Given the description of an element on the screen output the (x, y) to click on. 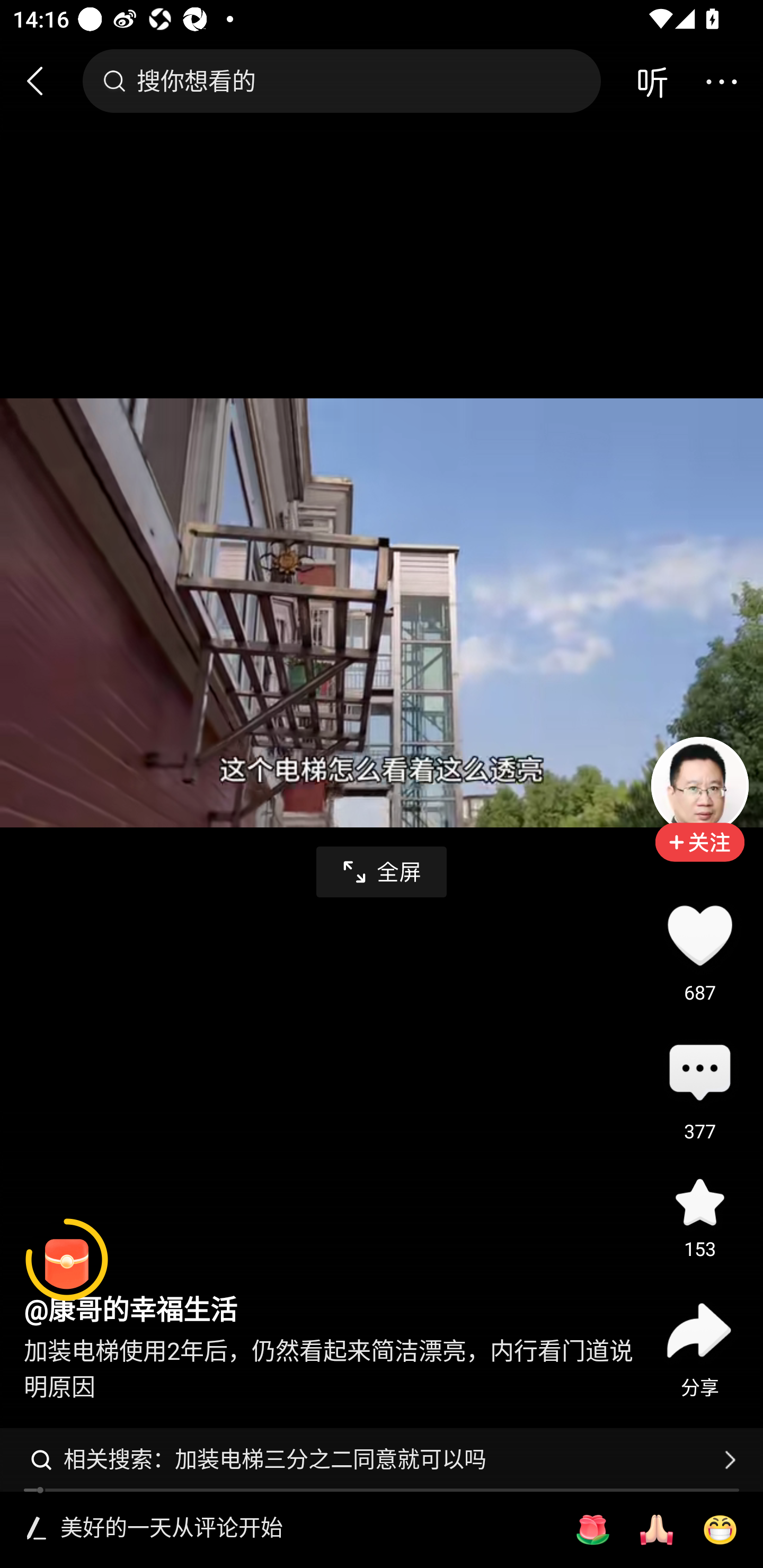
搜你想看的 搜索框，搜你想看的 (341, 80)
返回 (43, 80)
音频 (651, 80)
更多操作 (720, 80)
头像 (699, 785)
全屏播放 (381, 871)
点赞687 687 (699, 935)
评论377 评论 377 (699, 1074)
收藏 153 (699, 1201)
阅读赚金币 (66, 1259)
分享 (699, 1330)
@康哥的幸福生活 (130, 1310)
相关搜索：加装电梯三分之二同意就可以吗 (381, 1459)
美好的一天从评论开始 (305, 1529)
[玫瑰] (592, 1530)
[祈祷] (656, 1530)
[呲牙] (719, 1530)
